Given the description of an element on the screen output the (x, y) to click on. 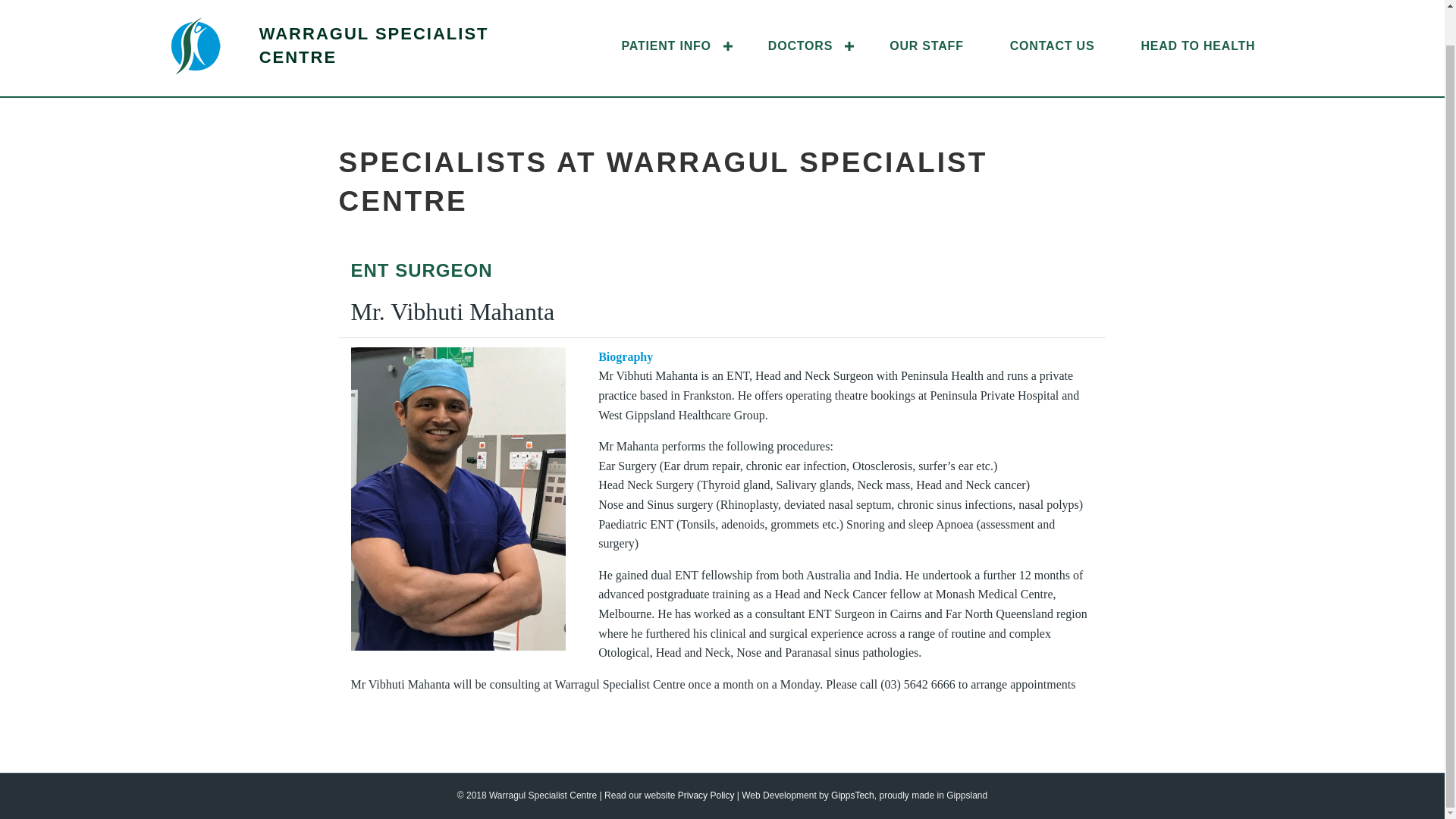
Specialists at Warragul Specialist Centre (662, 182)
WARRAGUL SPECIALIST CENTRE (374, 45)
warragul-specialist-centre-logo-header (195, 45)
Privacy Policy (706, 795)
OUR STAFF (926, 45)
Warragul Specialist Centre (374, 45)
GippsTech (853, 795)
PATIENT INFO (671, 45)
DOCTORS (805, 45)
CONTACT US (1052, 45)
HEAD TO HEALTH (1198, 45)
SPECIALISTS AT WARRAGUL SPECIALIST CENTRE (662, 182)
